Given the description of an element on the screen output the (x, y) to click on. 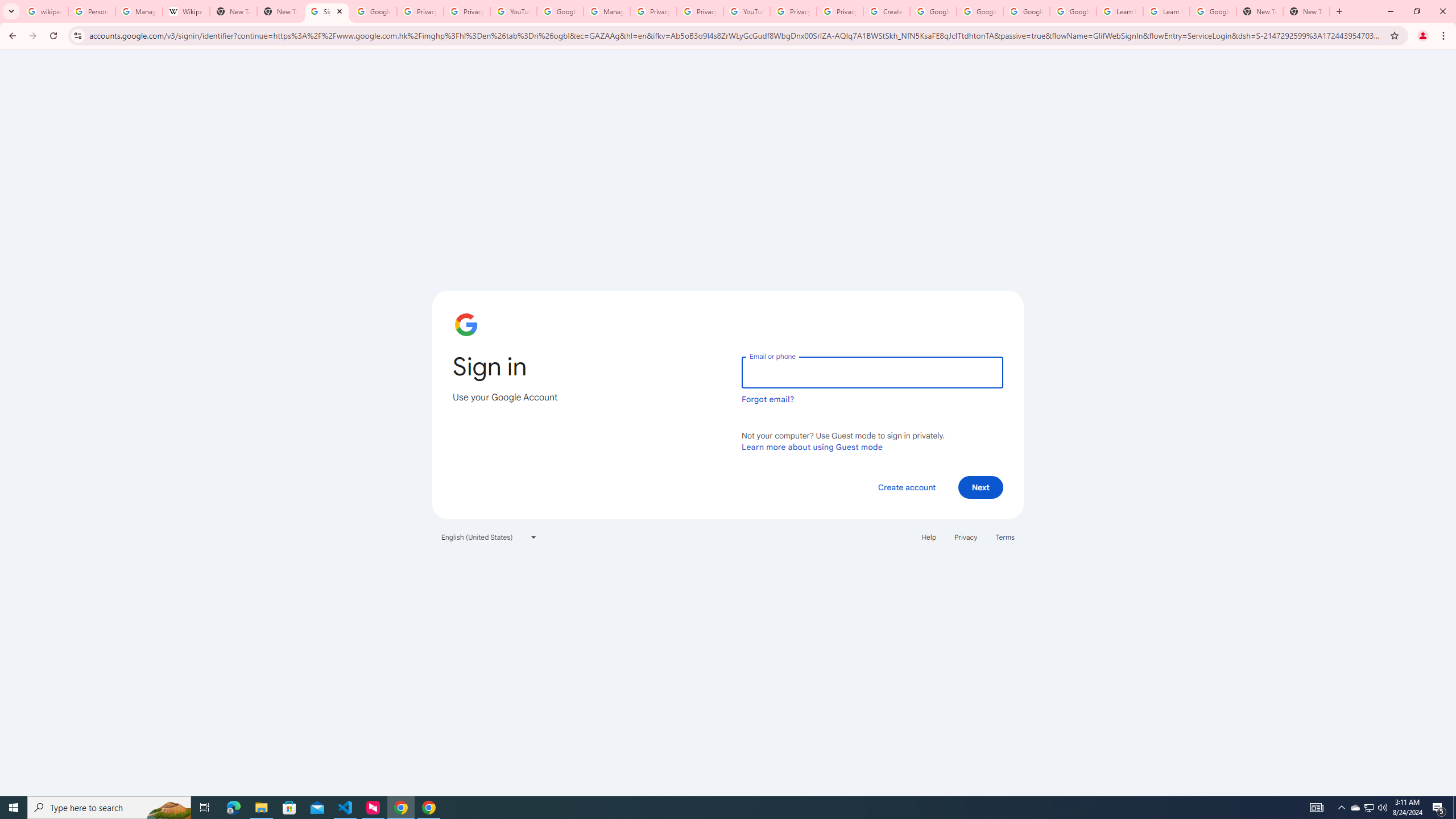
Forgot email? (767, 398)
YouTube (745, 11)
New Tab (1259, 11)
